Given the description of an element on the screen output the (x, y) to click on. 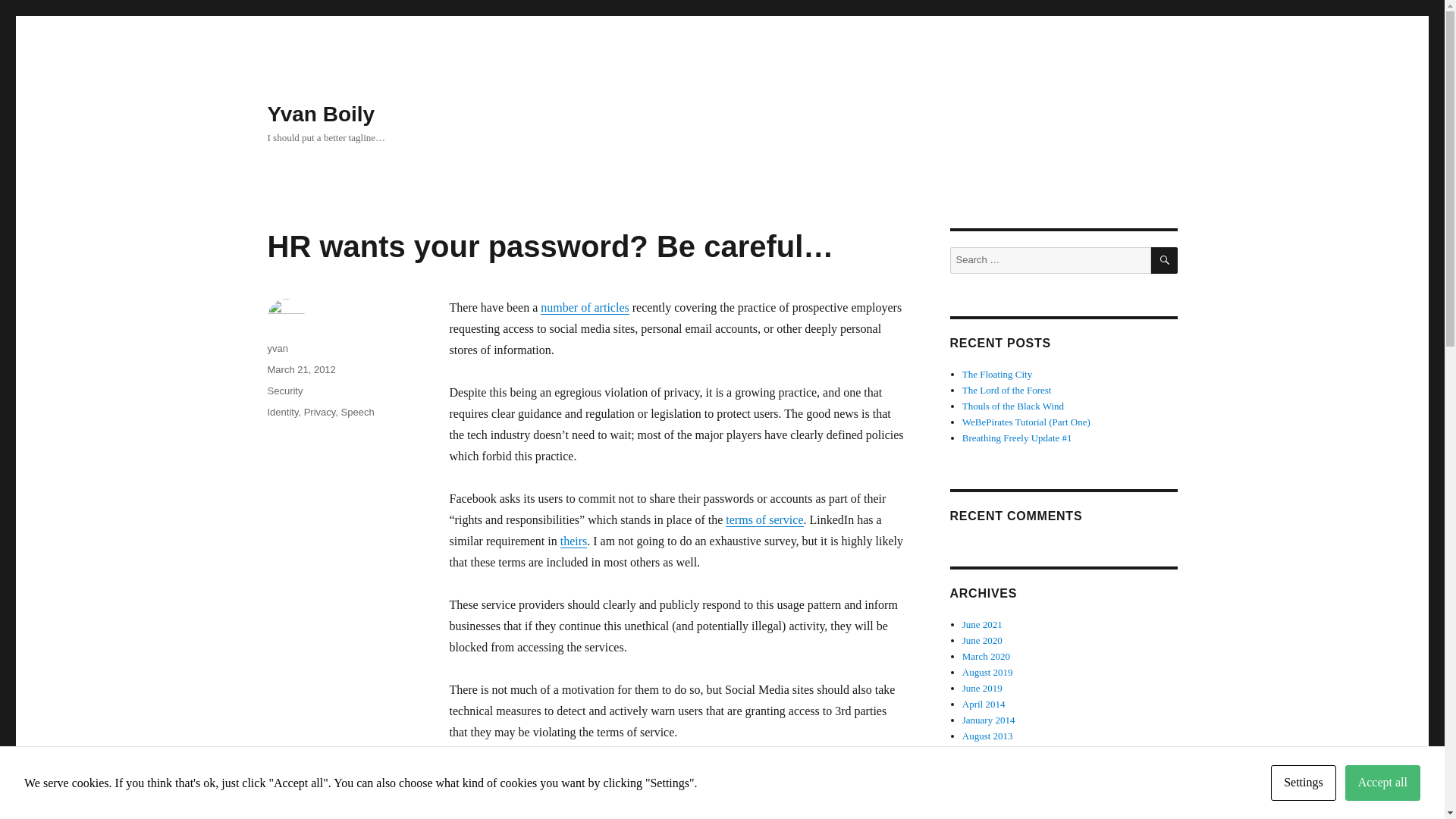
Security (284, 390)
March 21, 2012 (300, 369)
August 2013 (987, 736)
August 2019 (987, 672)
May 2012 (982, 814)
Privacy (320, 411)
theirs (574, 540)
terms of service (764, 519)
Speech (357, 411)
December 2012 (993, 783)
July 2013 (981, 751)
June 2021 (982, 624)
November 2012 (994, 799)
Identity (282, 411)
SEARCH (1164, 260)
